Given the description of an element on the screen output the (x, y) to click on. 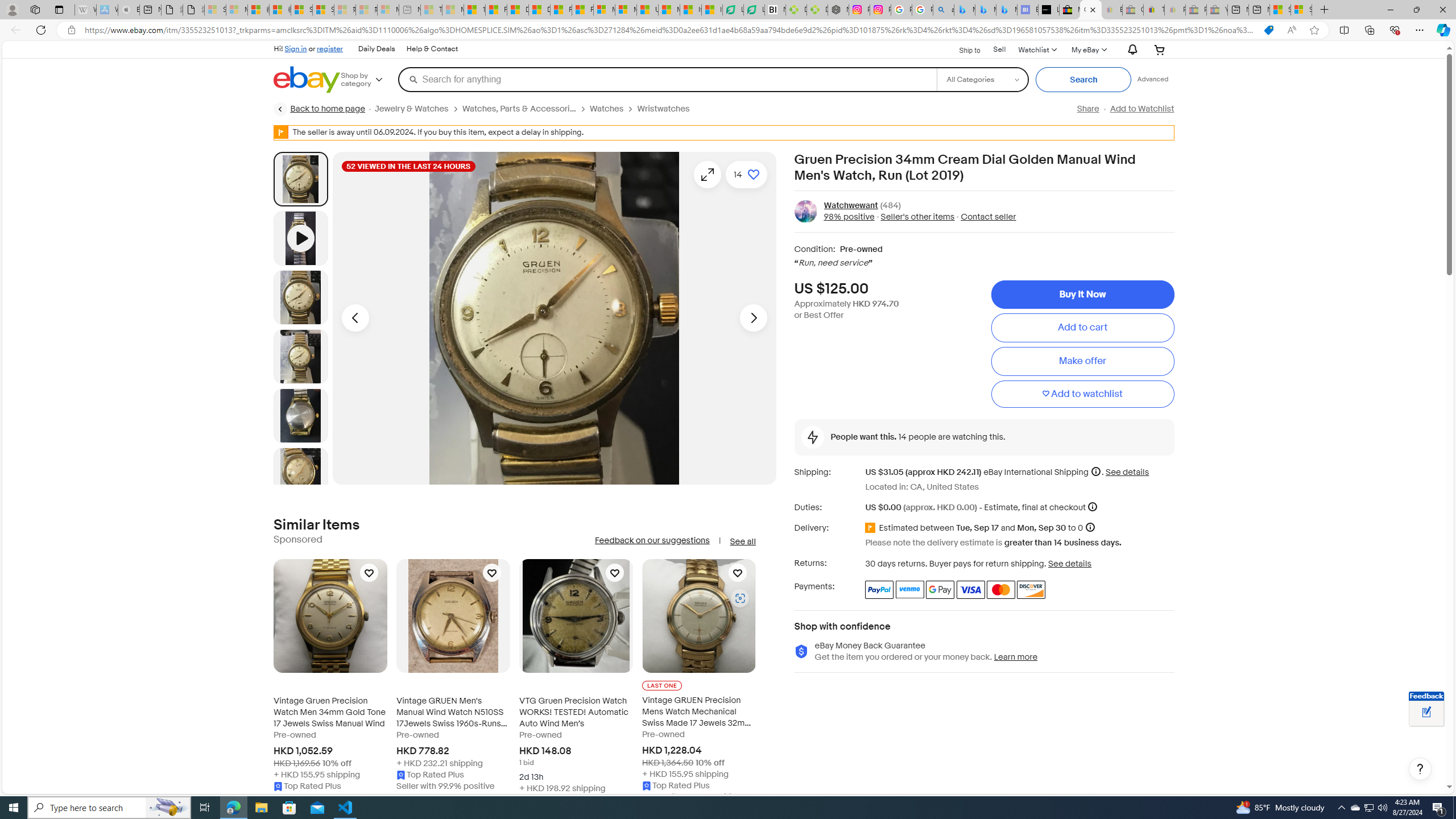
alabama high school quarterback dies - Search (943, 9)
Marine life - MSN - Sleeping (452, 9)
Venmo (909, 588)
LendingTree - Compare Lenders (754, 9)
Your shopping cart (1159, 49)
Wristwatches (663, 108)
Microsoft Services Agreement - Sleeping (236, 9)
Payments Terms of Use | eBay.com - Sleeping (1174, 9)
Add to watchlist - 14 watchers (746, 174)
Picture 3 of 13 (300, 356)
Watches (606, 108)
